Given the description of an element on the screen output the (x, y) to click on. 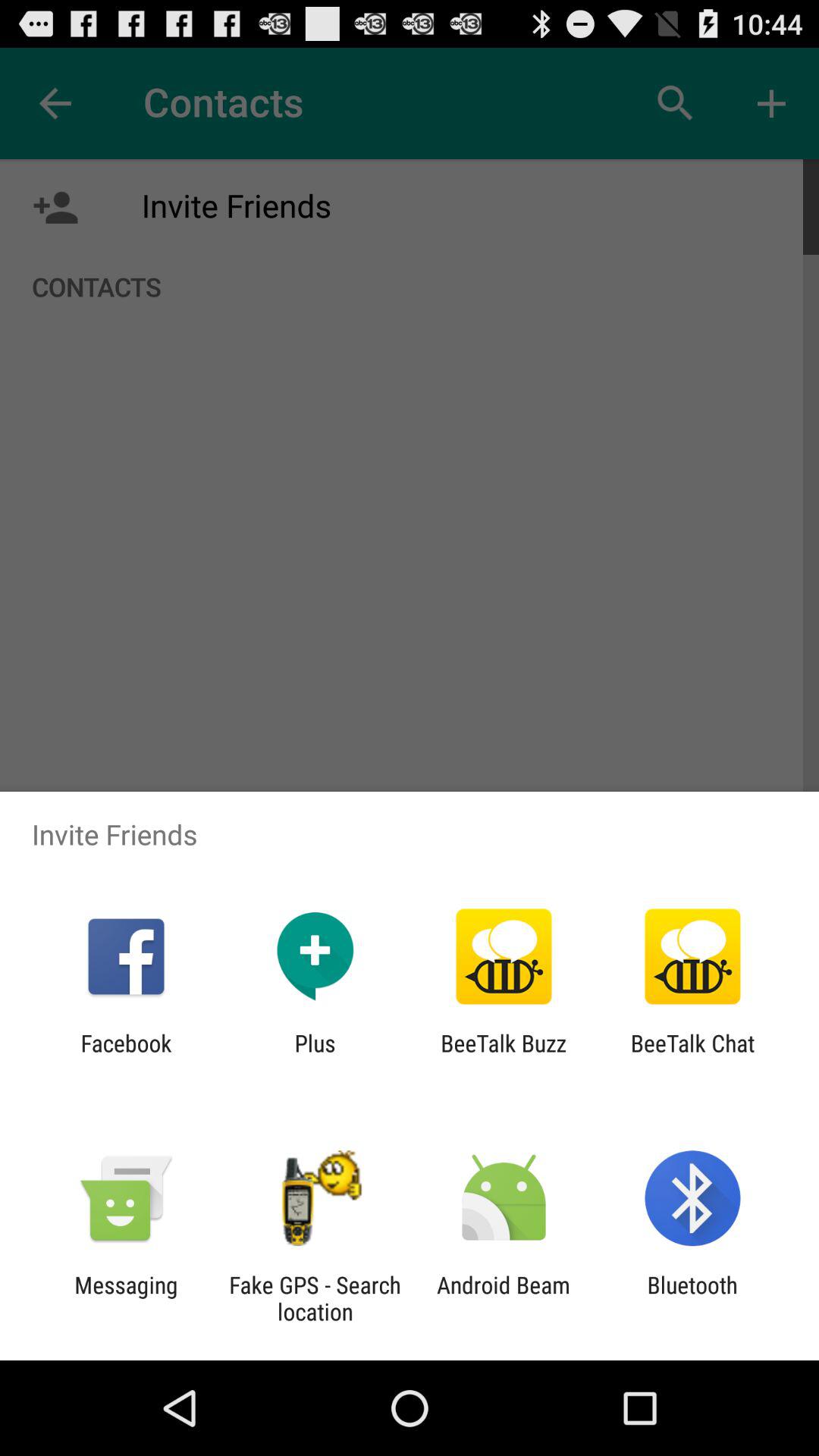
turn on icon next to messaging app (314, 1298)
